Given the description of an element on the screen output the (x, y) to click on. 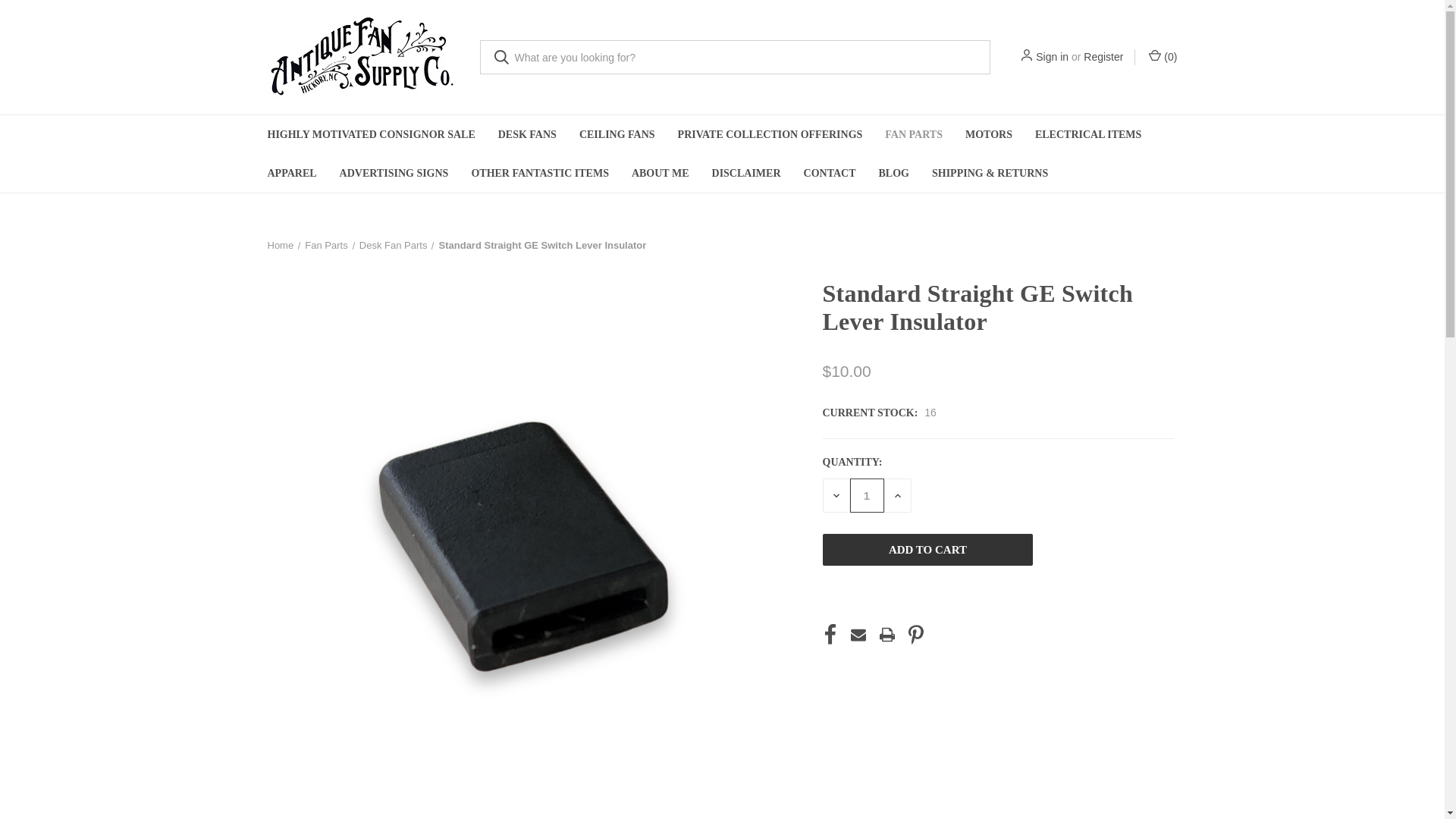
CONTACT (829, 172)
BLOG (893, 172)
HIGHLY MOTIVATED CONSIGNOR SALE (371, 134)
PRIVATE COLLECTION OFFERINGS (770, 134)
DISCLAIMER (746, 172)
Add to Cart (927, 549)
Sign in (1051, 57)
ABOUT ME (660, 172)
DESK FANS (526, 134)
Home (280, 244)
Pinterest (915, 634)
Register (1102, 57)
1 (865, 495)
Facebook (829, 634)
OTHER FANTASTIC ITEMS (540, 172)
